Given the description of an element on the screen output the (x, y) to click on. 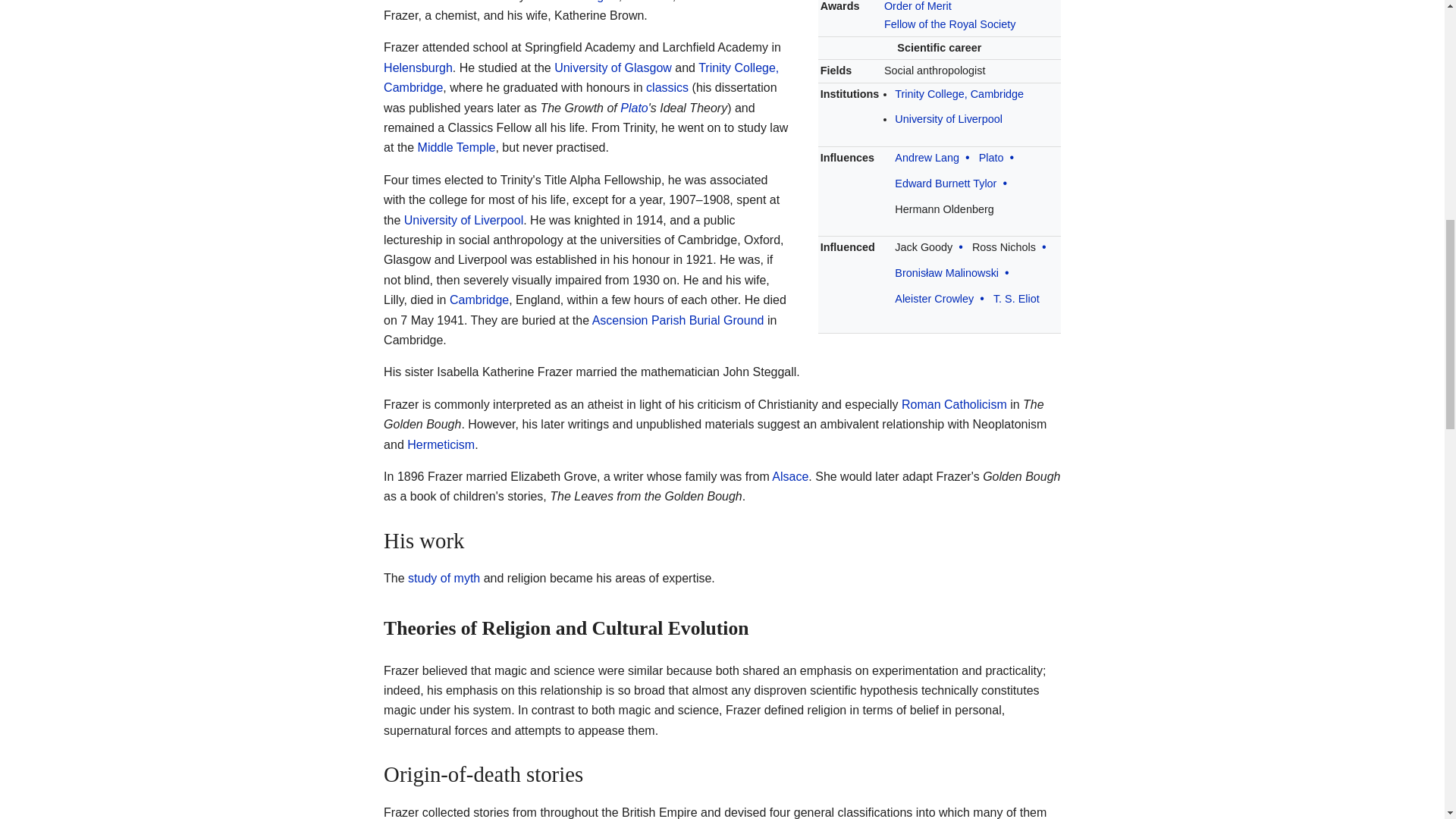
Trinity College, Cambridge (959, 93)
Edward Burnett Tylor (945, 183)
Order of Merit (917, 6)
Andrew Lang (927, 157)
T. S. Eliot (1015, 298)
Trinity College, Cambridge (959, 93)
University of Liverpool (949, 119)
Andrew Lang (927, 157)
Plato (991, 157)
The Royal Society (949, 24)
Aleister Crowley (934, 298)
Plato (991, 157)
T. S. Eliot (1015, 298)
Fellow of the Royal Society (949, 24)
Order of Merit (917, 6)
